Given the description of an element on the screen output the (x, y) to click on. 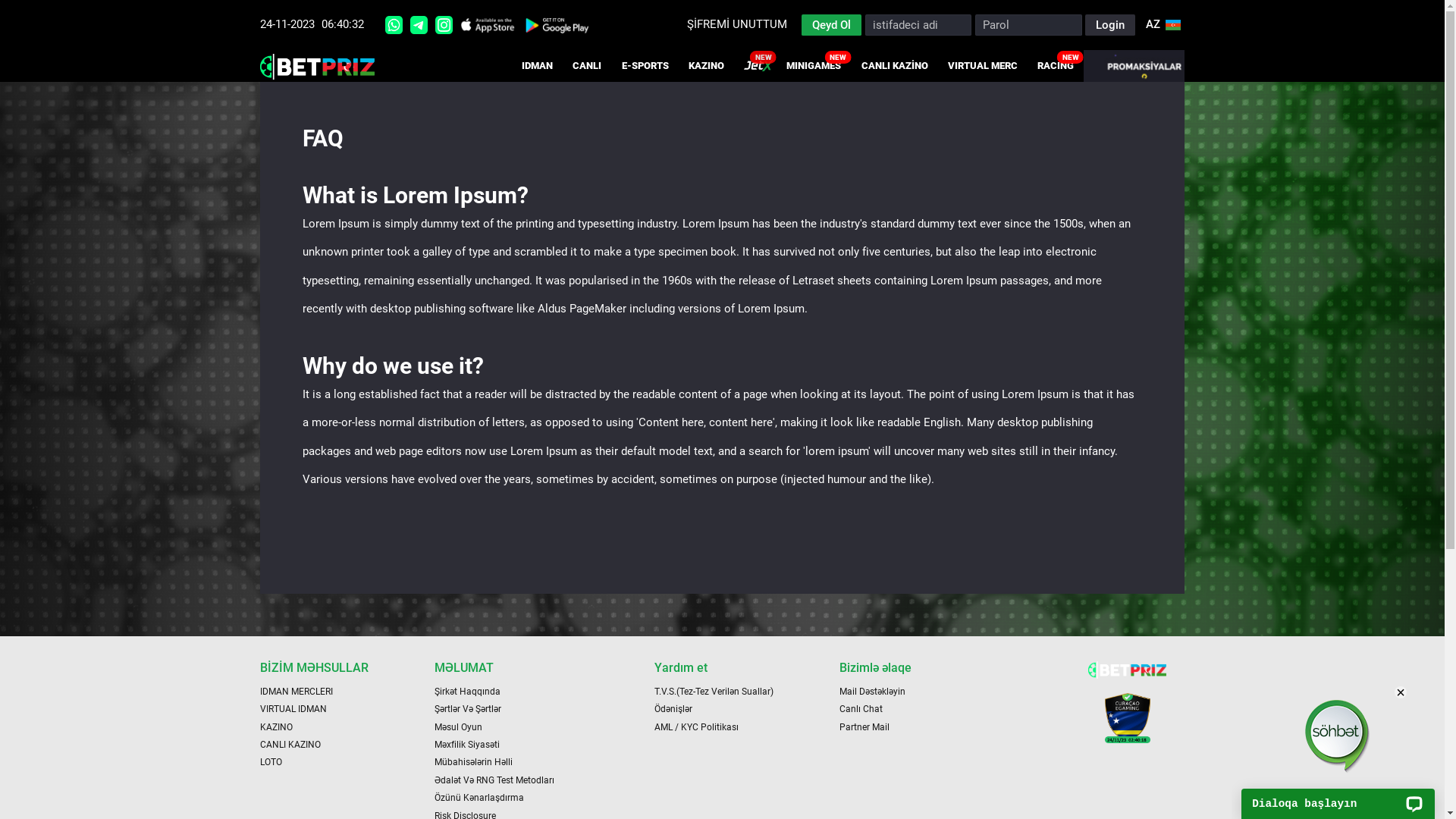
VIRTUAL IDMAN Element type: text (293, 708)
JETX
NEW Element type: text (755, 65)
IDMAN Element type: text (536, 65)
VIRTUAL MERC Element type: text (982, 65)
Qeyd Ol Element type: text (831, 24)
CANLI Element type: text (586, 65)
KAZINO Element type: text (276, 726)
CANLI KAZINO Element type: text (290, 744)
IDMAN MERCLERI Element type: text (296, 691)
LOTO Element type: text (271, 761)
Login Element type: text (1110, 24)
KAZINO Element type: text (706, 65)
E-SPORTS Element type: text (644, 65)
RACING
NEW Element type: text (1055, 65)
Partner Mail Element type: text (864, 726)
PROMAKSIYALAR Element type: text (1133, 65)
MINIGAMES
NEW Element type: text (813, 65)
